Given the description of an element on the screen output the (x, y) to click on. 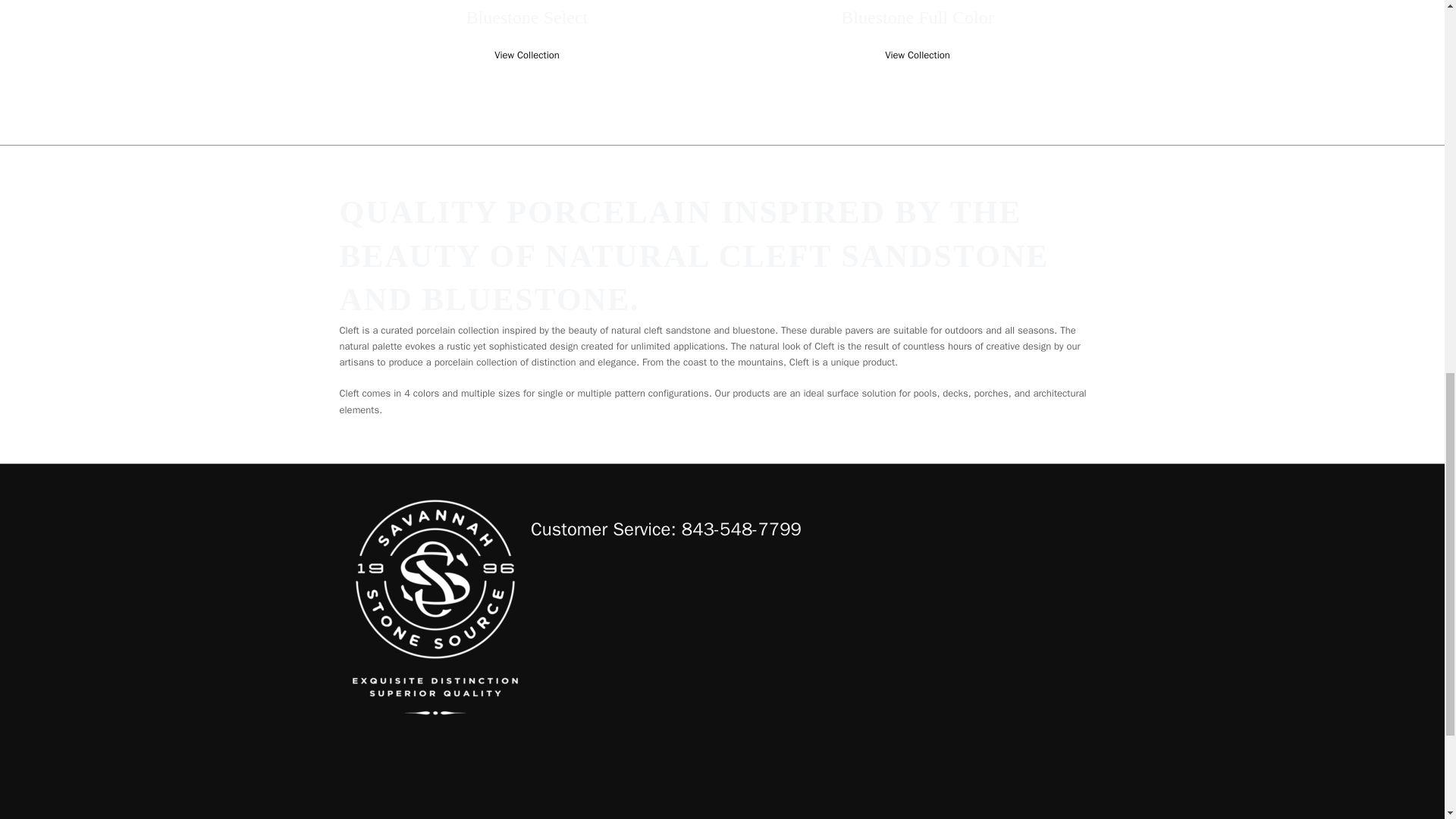
View Collection (526, 54)
Bluestone Full Color (916, 17)
View Collection (917, 54)
Bluestone Select (526, 17)
Bluestone Select (526, 17)
Bluestone Full Color (916, 17)
